Given the description of an element on the screen output the (x, y) to click on. 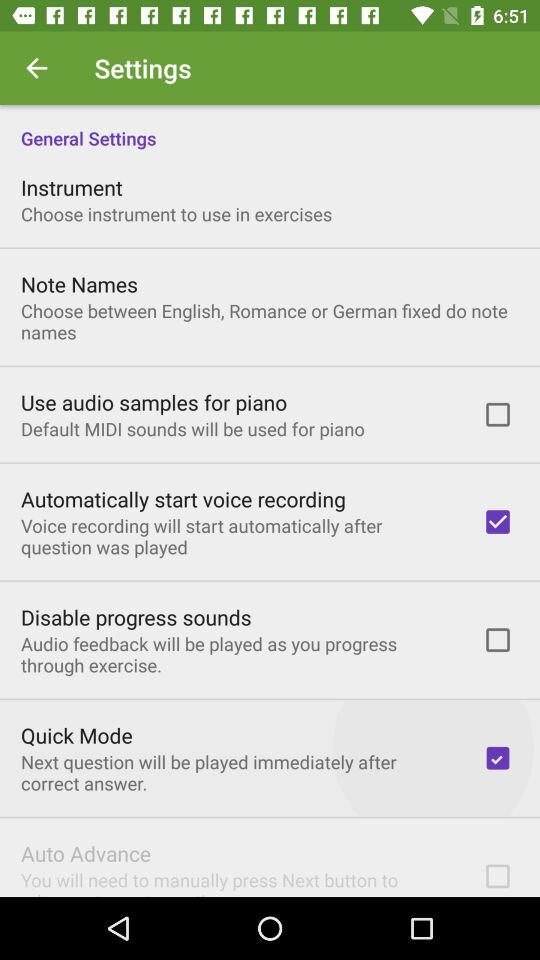
press quick mode icon (76, 735)
